Given the description of an element on the screen output the (x, y) to click on. 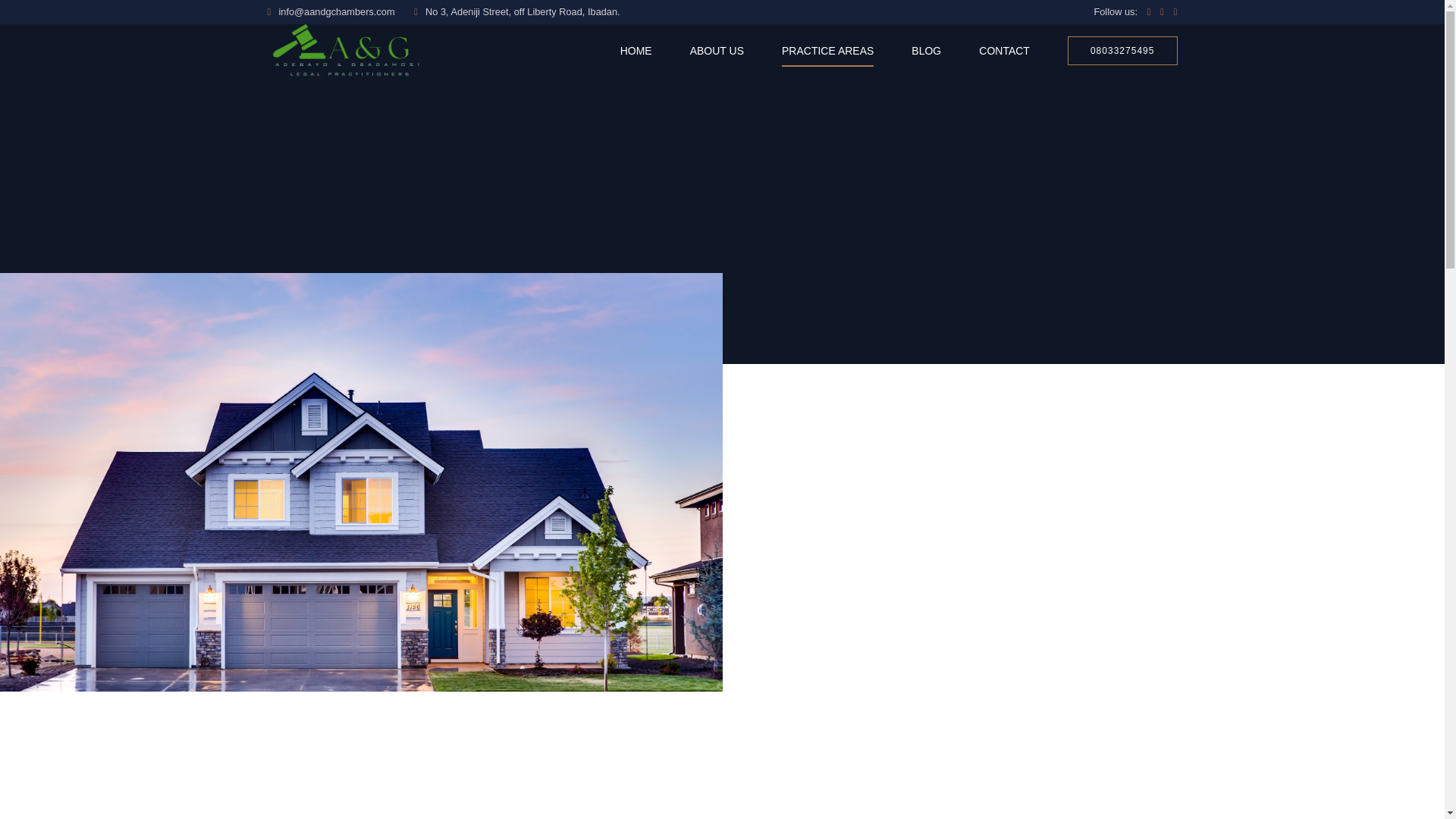
PRACTICE AREAS (827, 50)
CONTACT (1003, 50)
08033275495 (1122, 51)
ABOUT US (717, 50)
